Given the description of an element on the screen output the (x, y) to click on. 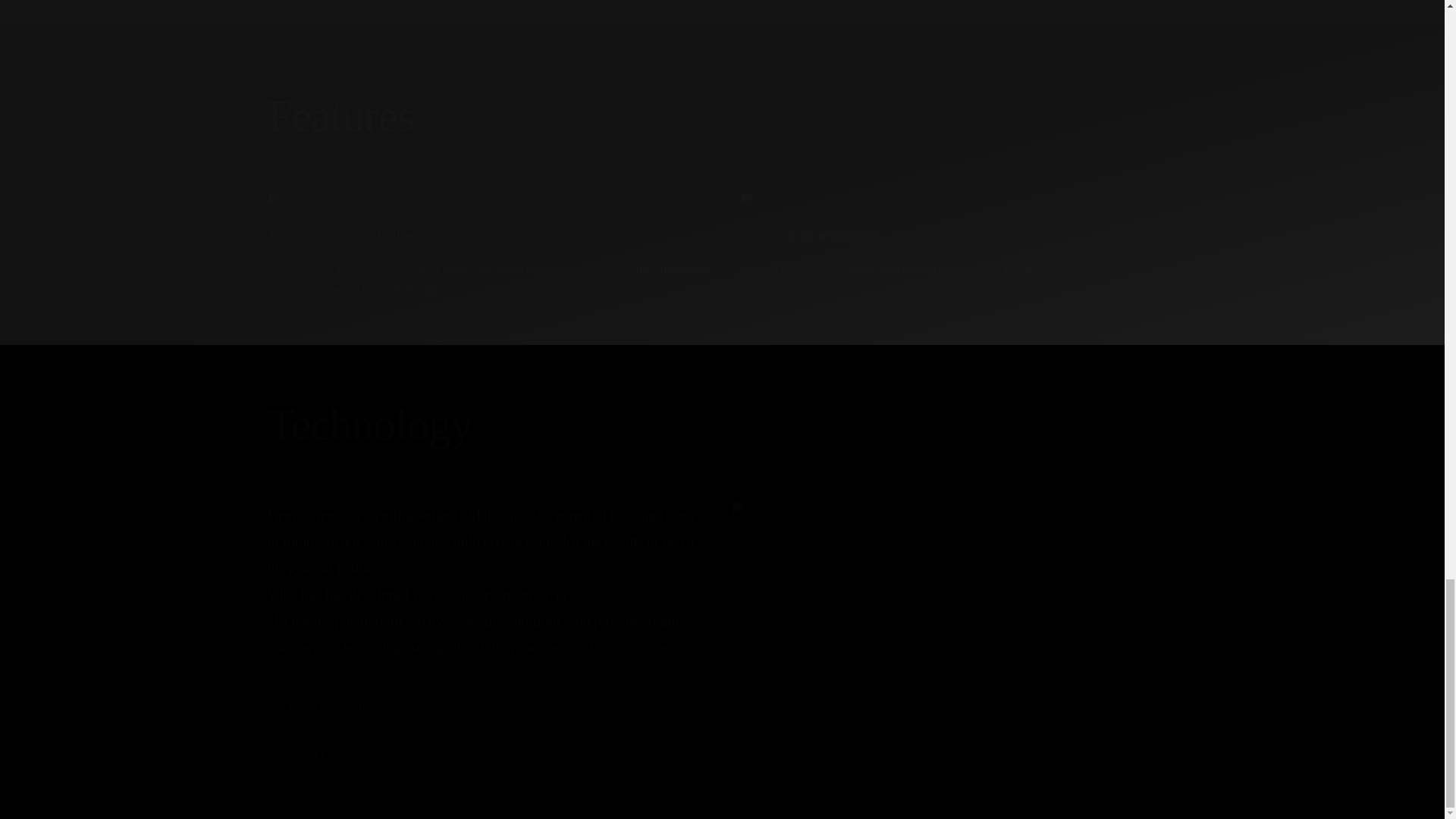
Technology (721, 424)
View research results (337, 704)
Features (721, 115)
Contact Us (312, 753)
